Given the description of an element on the screen output the (x, y) to click on. 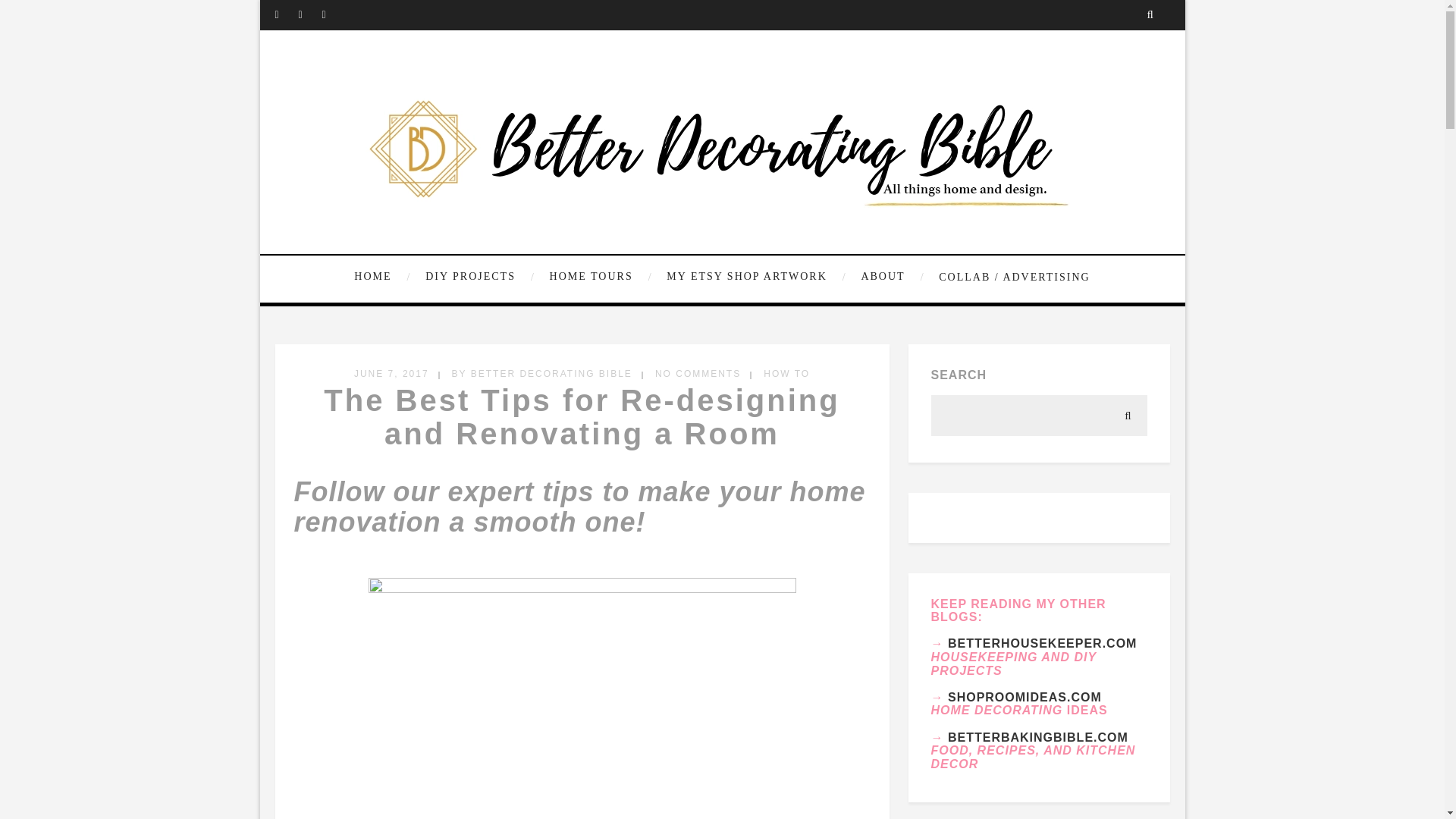
JUNE 7, 2017 (391, 373)
HOME (383, 276)
DIY PROJECTS (477, 276)
HOME TOURS (598, 276)
BY BETTER DECORATING BIBLE (541, 373)
NO COMMENTS (698, 373)
HOW TO (785, 373)
MY ETSY SHOP ARTWORK (753, 276)
